Given the description of an element on the screen output the (x, y) to click on. 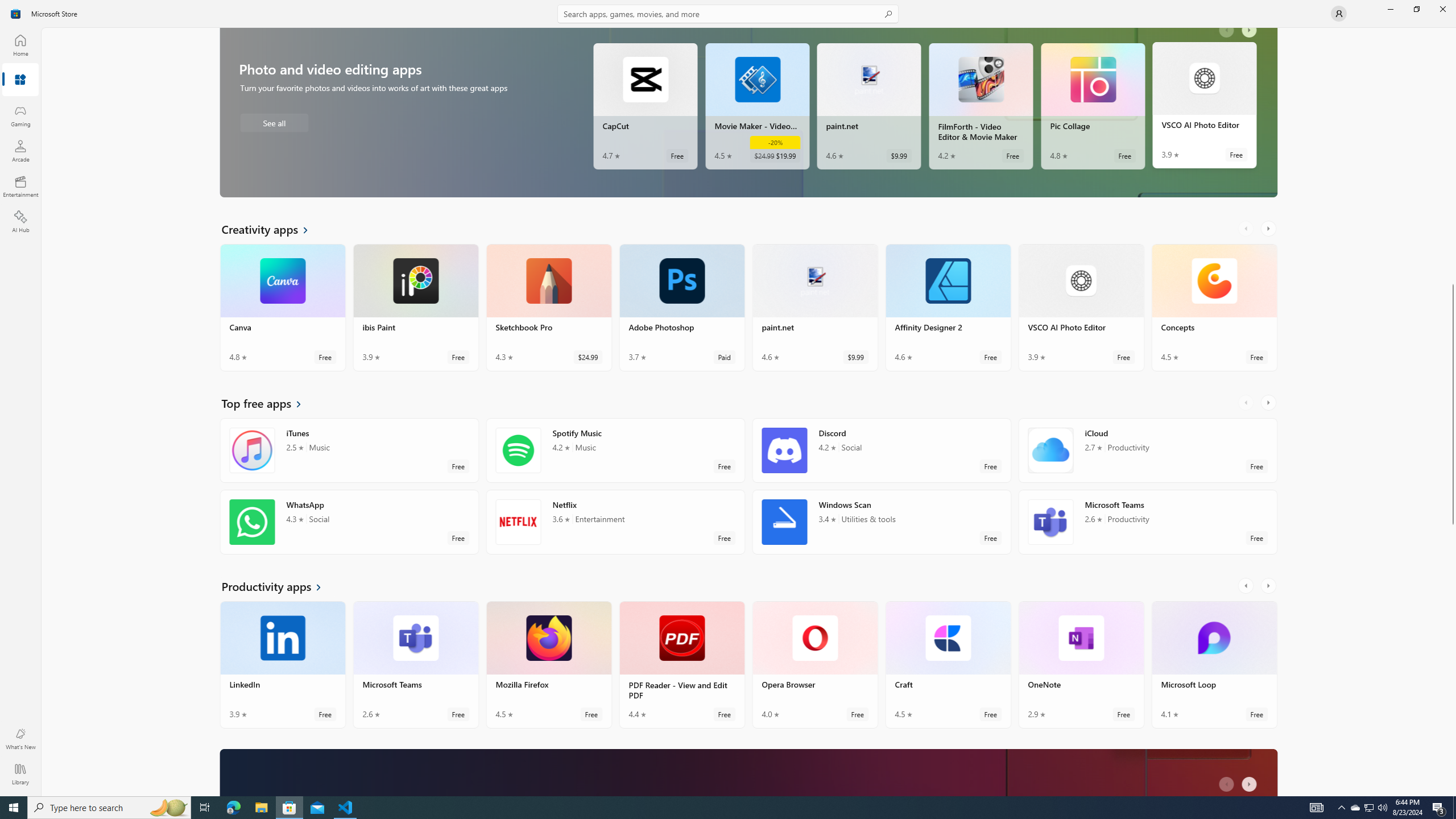
CapCut. Average rating of 4.7 out of five stars. Free   (644, 110)
Vertical Large Increase (1452, 642)
AutomationID: LeftScrollButton (1227, 784)
ibis Paint. Average rating of 3.9 out of five stars. Free   (415, 311)
Vertical Large Decrease (1452, 144)
WhatsApp. Average rating of 4.3 out of five stars. Free   (349, 526)
